Given the description of an element on the screen output the (x, y) to click on. 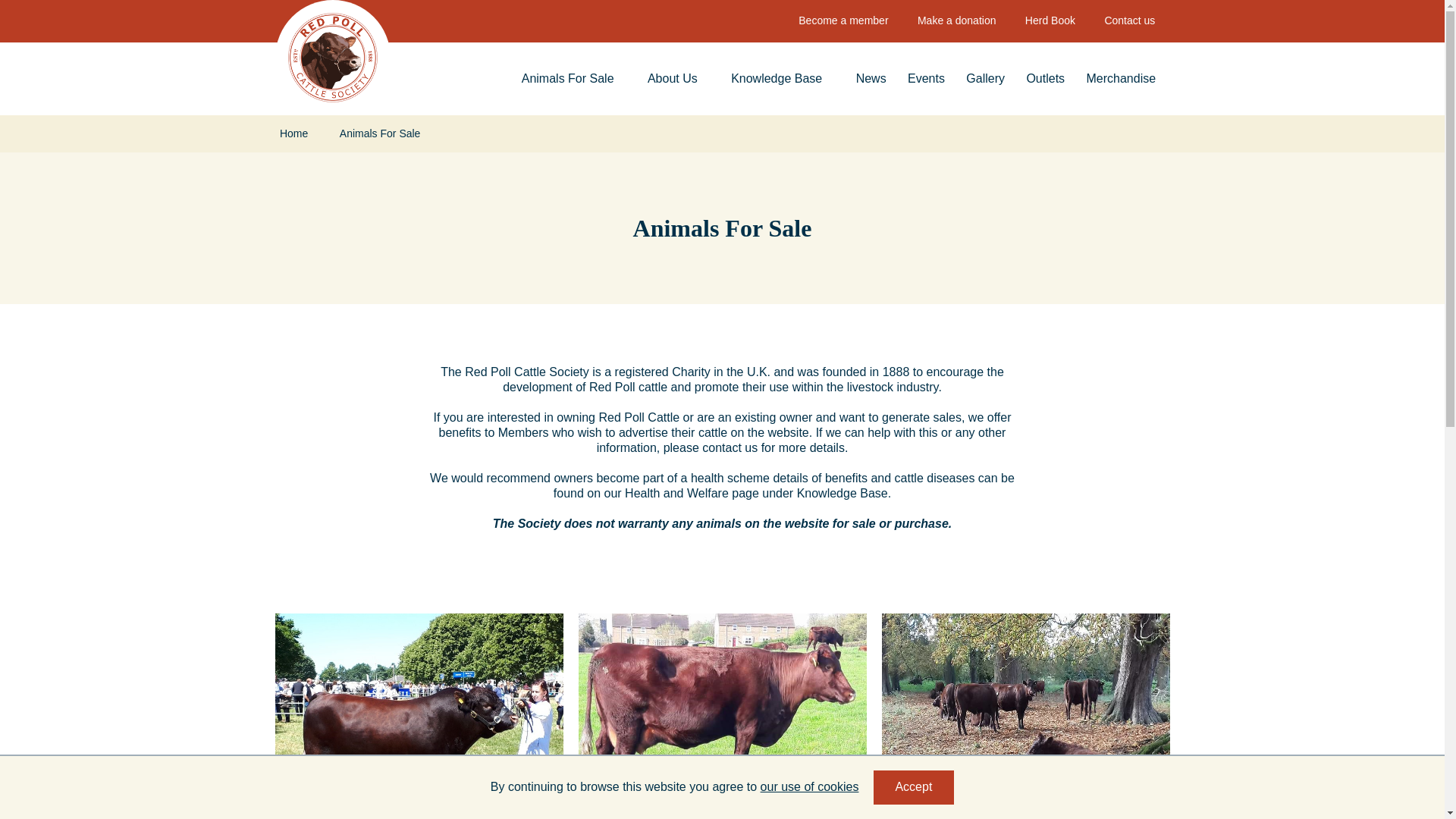
Outlets (1044, 78)
Make a donation (956, 20)
Contact us (1129, 20)
Knowledge Base (782, 78)
Animals For Sale (573, 78)
News (870, 78)
Gallery (984, 78)
Become a member (843, 20)
Events (925, 78)
Herd Book (1050, 20)
About Us (678, 78)
Merchandise (1120, 78)
